Given the description of an element on the screen output the (x, y) to click on. 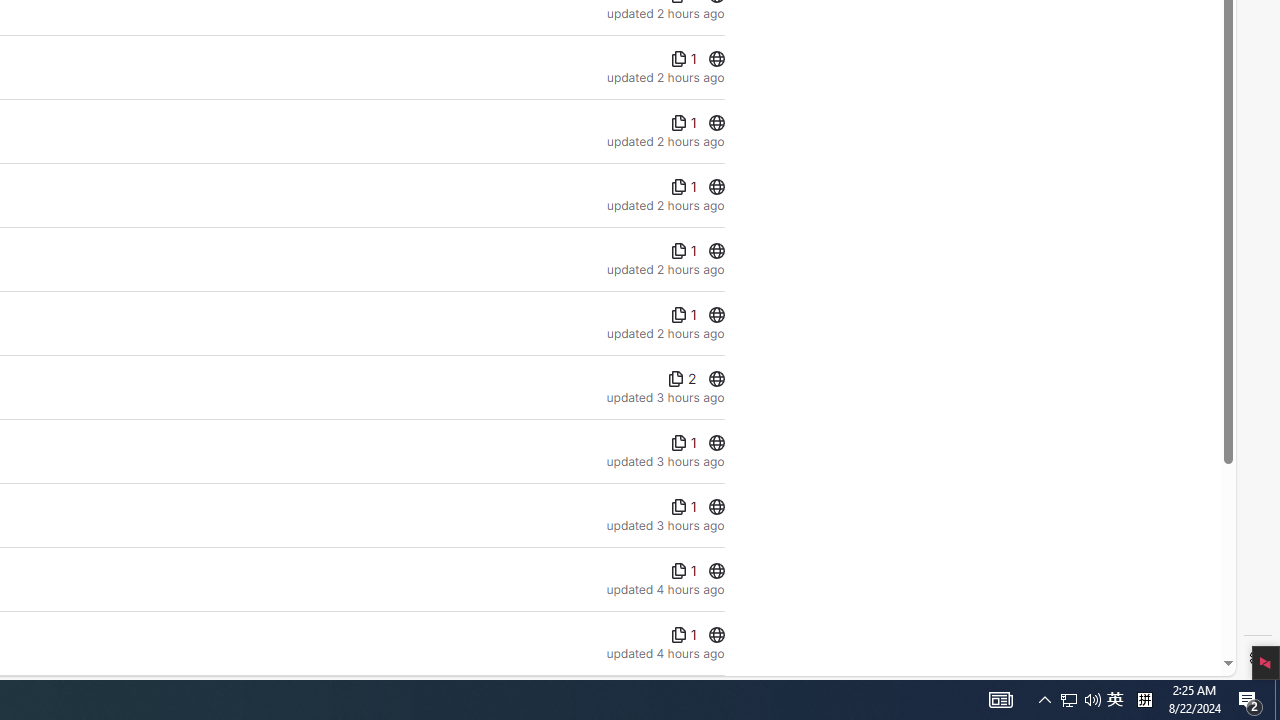
Class: s16 (715, 635)
Class: s16 gl-align-middle (678, 635)
